Given the description of an element on the screen output the (x, y) to click on. 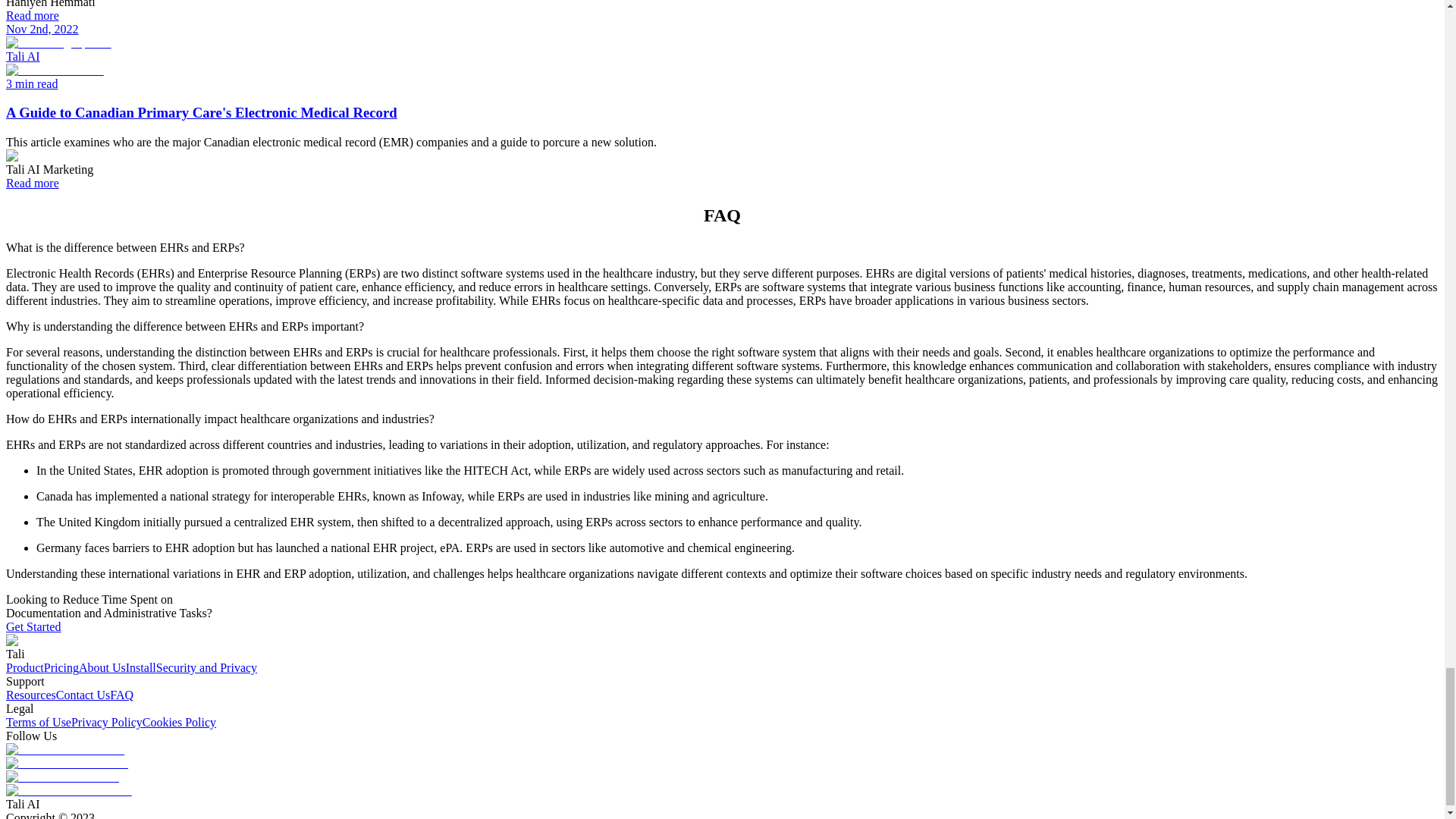
Read more (32, 15)
FAQ (121, 694)
Cookies Policy (178, 721)
Install (140, 667)
Product (24, 667)
Resources (30, 694)
Security and Privacy (206, 667)
Terms of Use (38, 721)
Pricing (60, 667)
About Us (101, 667)
Contact Us (83, 694)
Read more (32, 182)
Privacy Policy (106, 721)
